Given the description of an element on the screen output the (x, y) to click on. 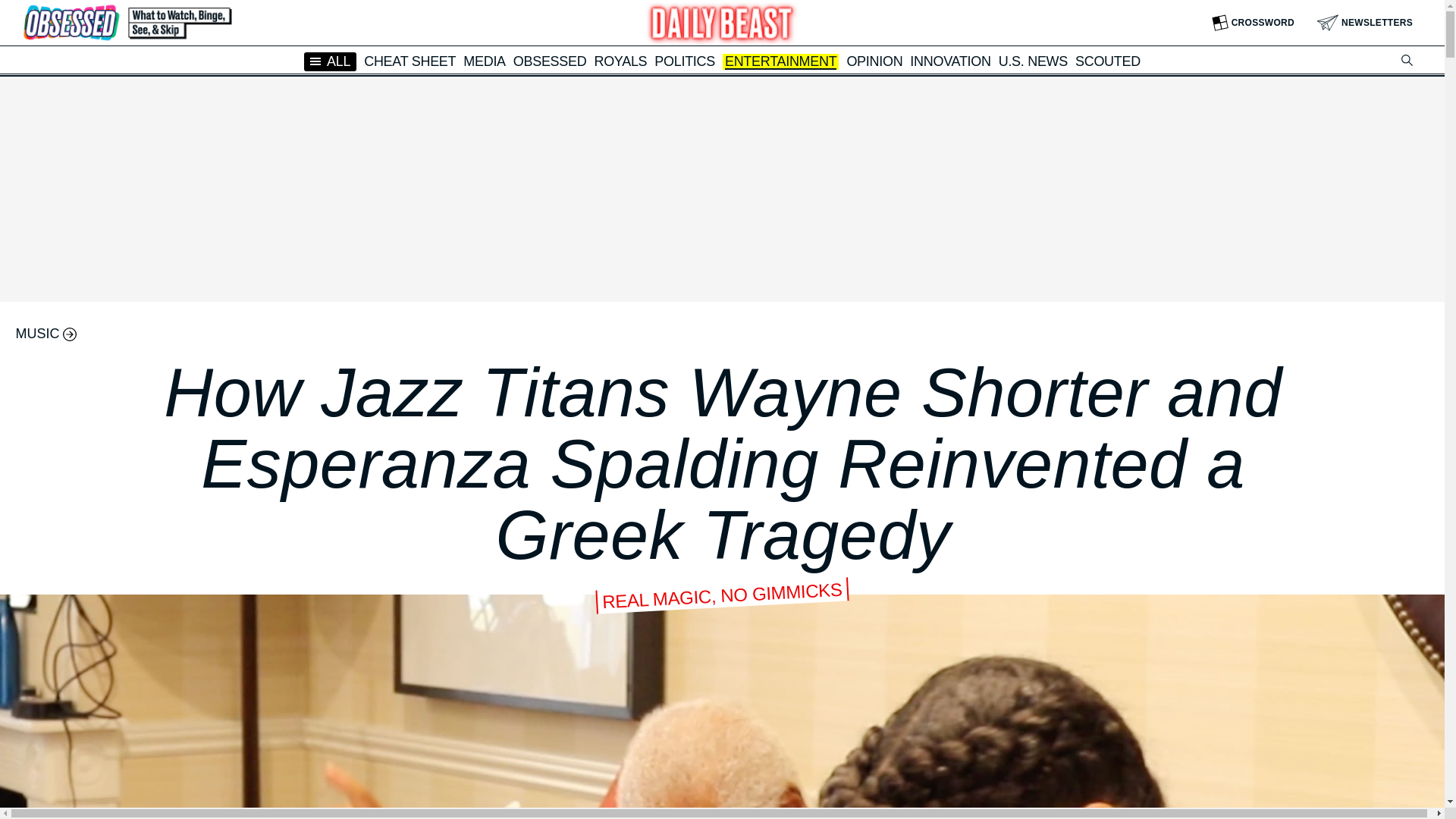
MEDIA (484, 60)
U.S. NEWS (1032, 60)
INNOVATION (950, 60)
SCOUTED (1107, 60)
OBSESSED (549, 60)
OPINION (873, 60)
NEWSLETTERS (1364, 22)
POLITICS (683, 60)
ENTERTAINMENT (780, 61)
CHEAT SHEET (409, 60)
